Given the description of an element on the screen output the (x, y) to click on. 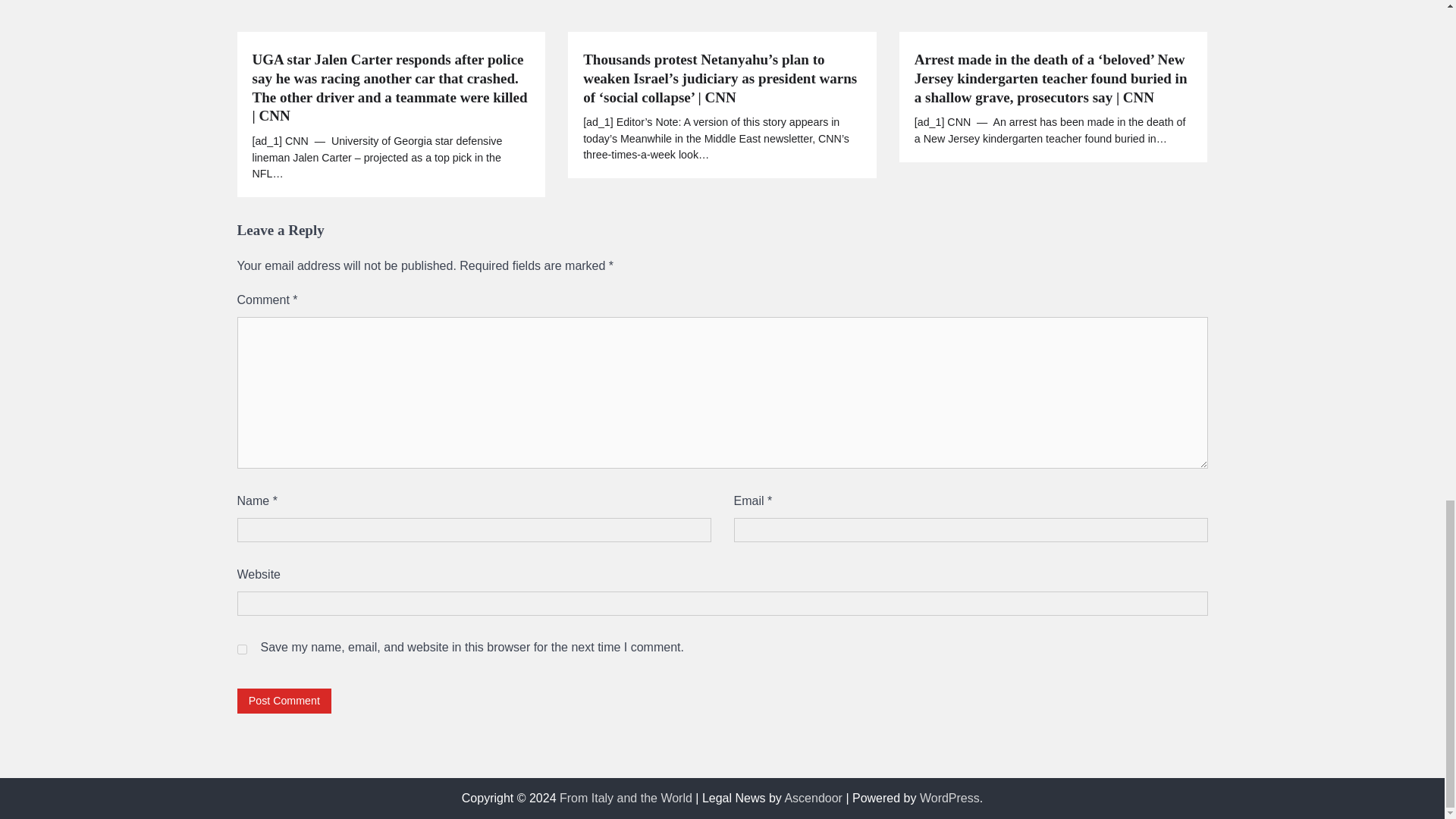
yes (240, 649)
From Italy and the World (626, 797)
Post Comment (283, 700)
WordPress (949, 797)
Ascendoor (813, 797)
Post Comment (283, 700)
